Given the description of an element on the screen output the (x, y) to click on. 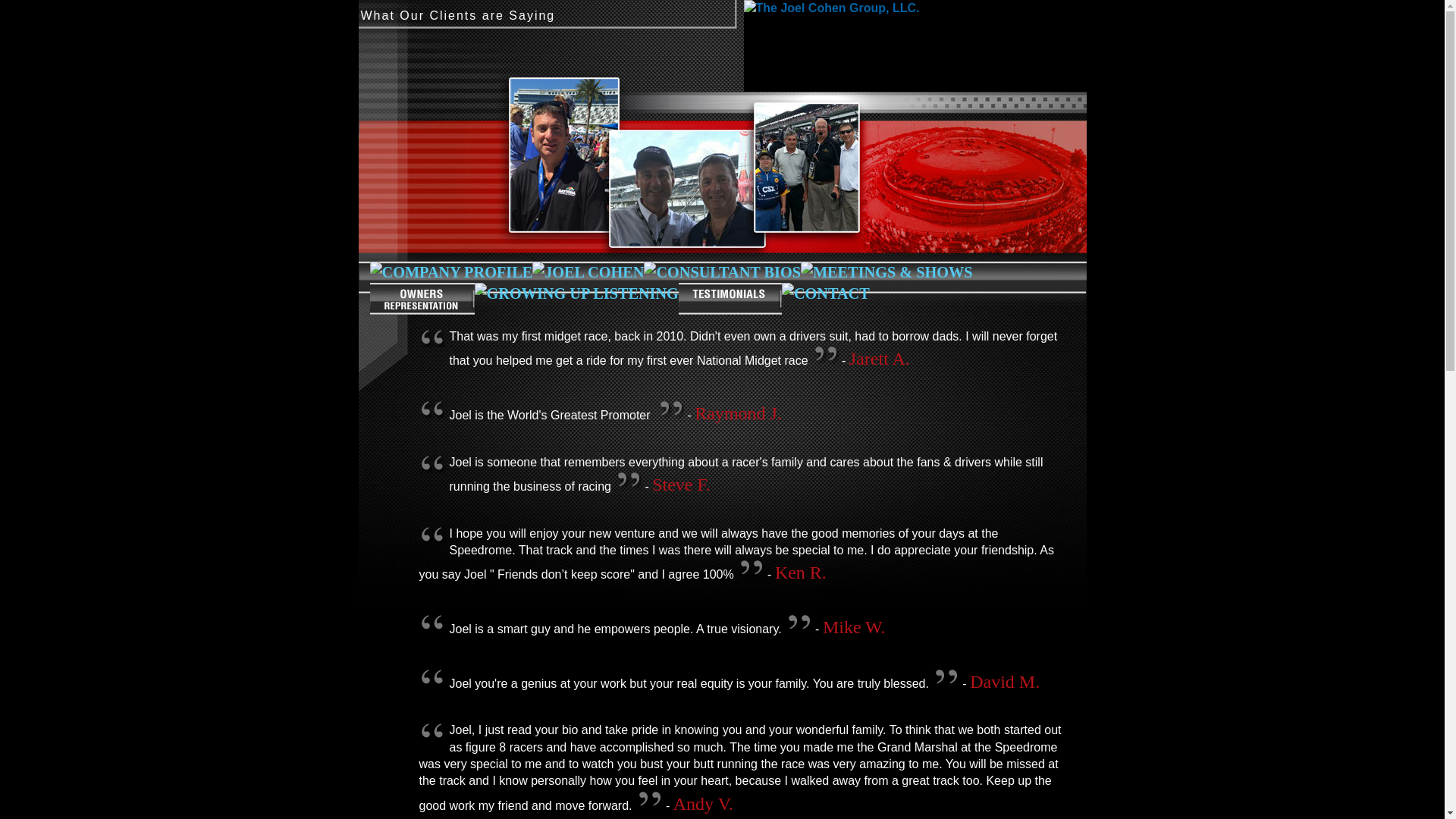
Growing Up Listening (576, 292)
Joel Cohen (587, 271)
Contact (825, 292)
Company Profile (450, 271)
Owners Representation (421, 298)
Consultant Bios (721, 271)
Testimonials (729, 298)
The Joel Cohen Group, LLC. (914, 45)
